Given the description of an element on the screen output the (x, y) to click on. 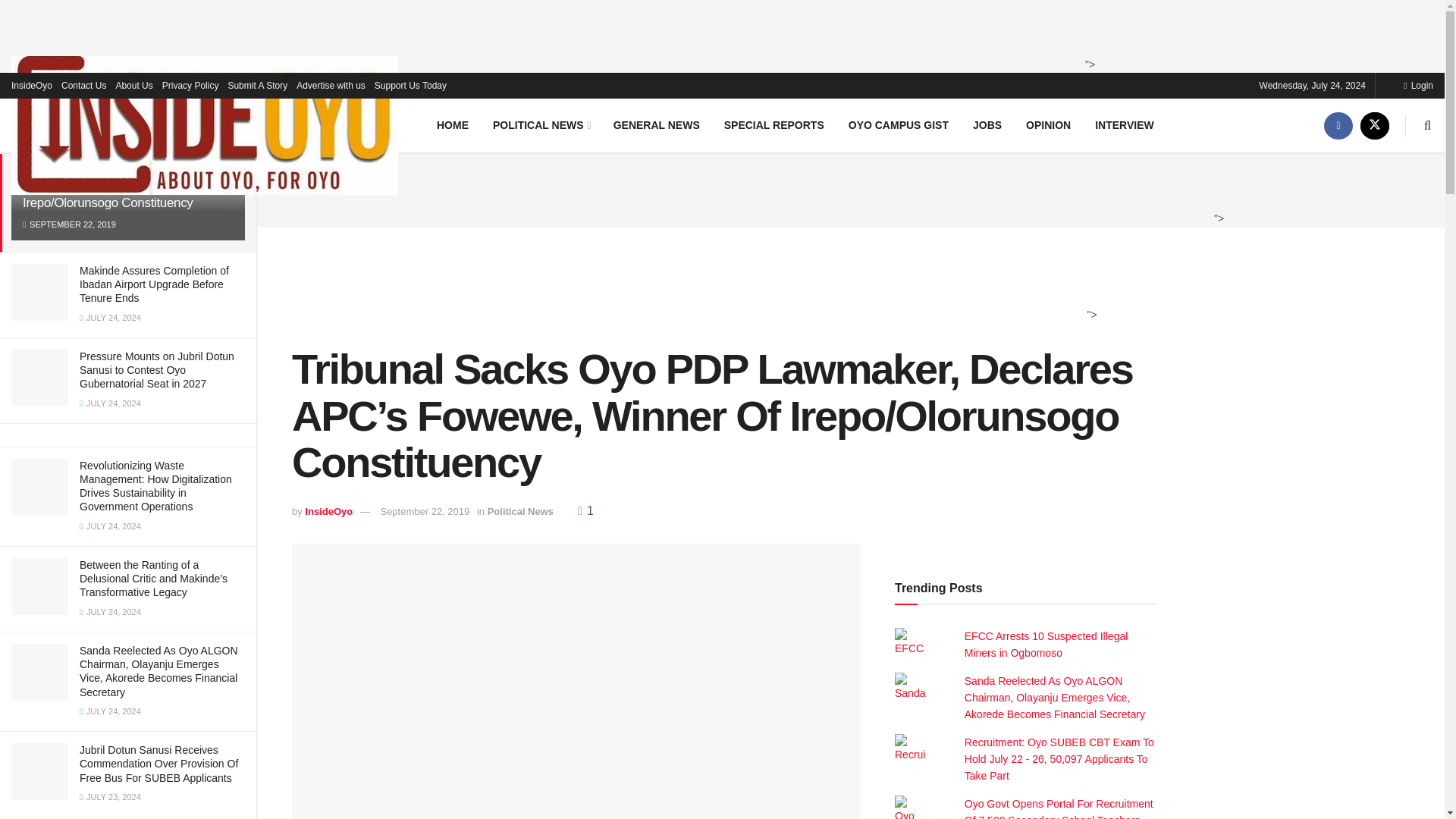
POLITICAL NEWS (540, 125)
EFCC Arrests 10 Suspected Illegal Miners in Ogbomoso (1045, 644)
About Us (133, 85)
Submit A Story (256, 85)
Login (1417, 85)
Privacy Policy (190, 85)
Contact Us (83, 85)
Support Us Today (410, 85)
InsideOyo (31, 85)
Filter (227, 96)
